Given the description of an element on the screen output the (x, y) to click on. 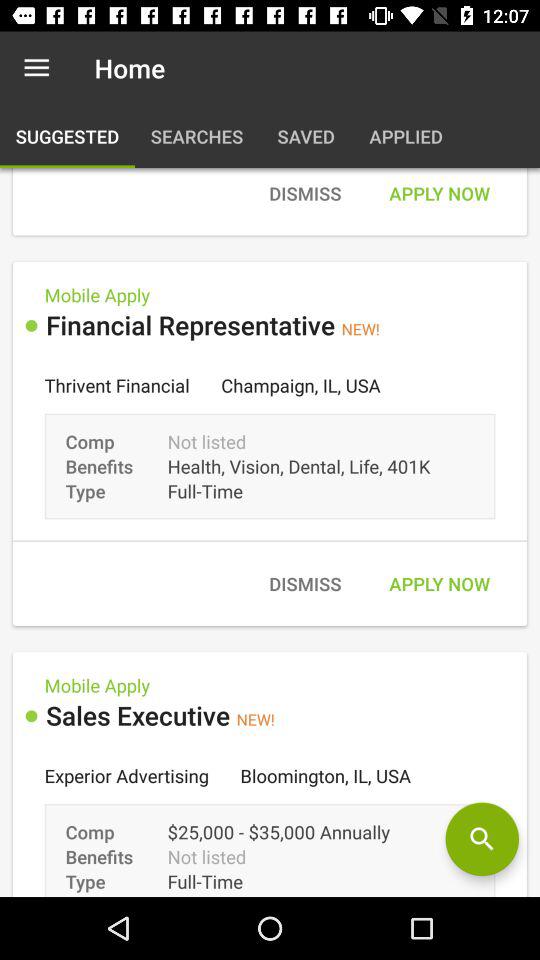
turn on the icon next to the home item (36, 68)
